Given the description of an element on the screen output the (x, y) to click on. 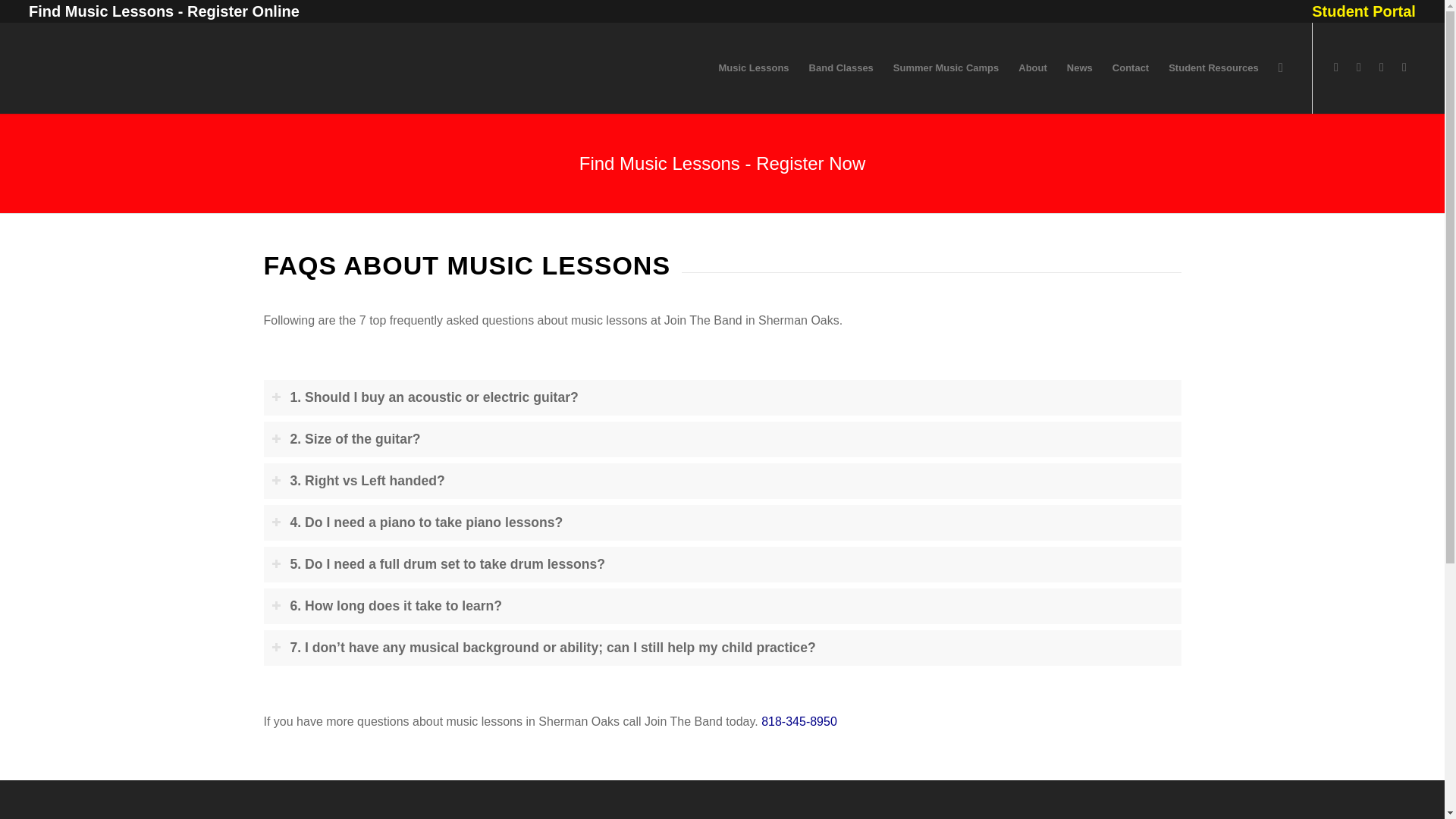
Instagram (1359, 67)
X (1381, 67)
Find Music Lessons - Register Online (164, 11)
Band Classes (841, 67)
Summer Music Camps (946, 67)
Facebook (1336, 67)
Rss (1404, 67)
Student Portal (1363, 12)
Music Lessons (752, 67)
